Given the description of an element on the screen output the (x, y) to click on. 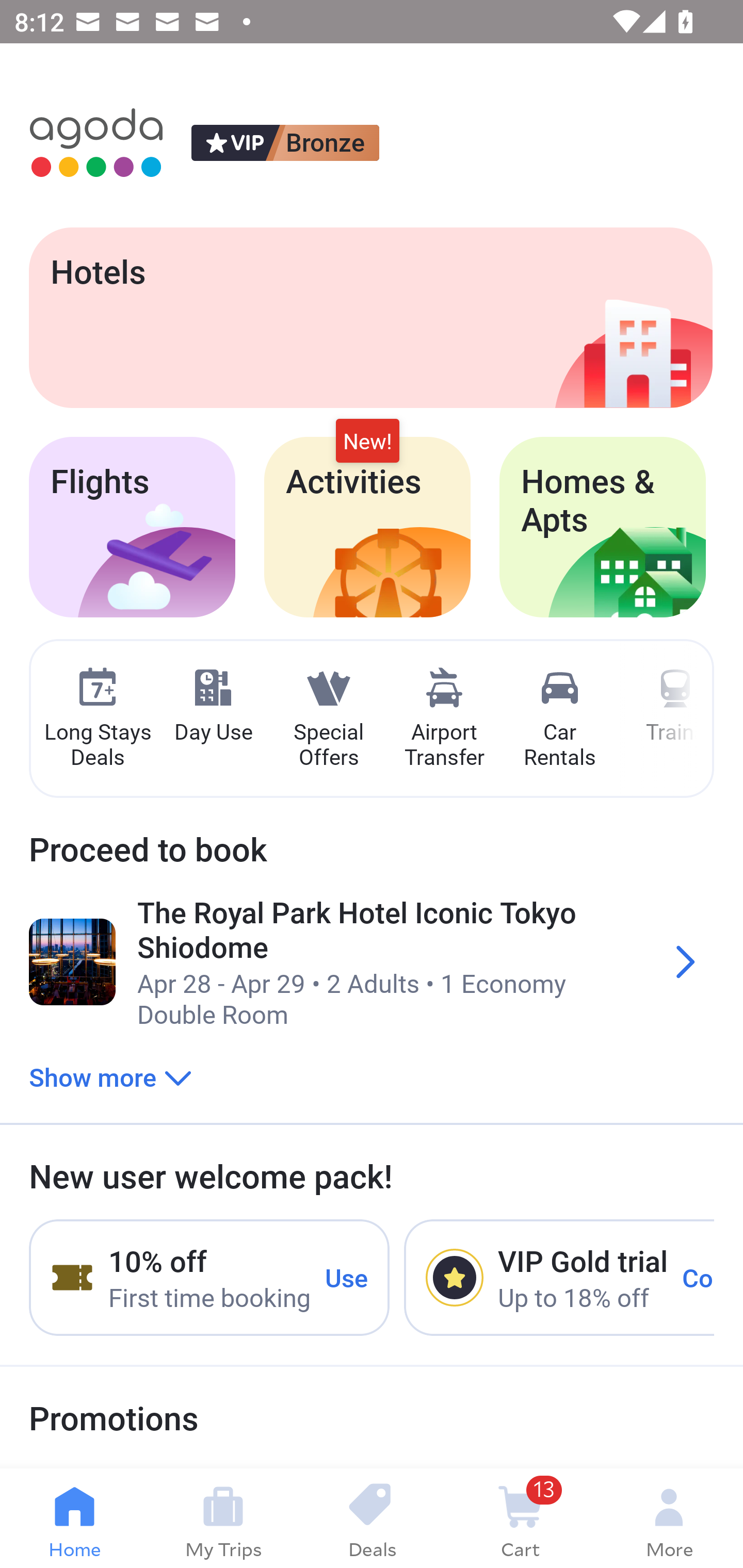
Hotels (370, 317)
New! (367, 441)
Flights (131, 527)
Activities (367, 527)
Homes & Apts (602, 527)
Day Use (213, 706)
Long Stays Deals (97, 718)
Special Offers (328, 718)
Airport Transfer (444, 718)
Car Rentals (559, 718)
Show more (110, 1076)
Use (346, 1277)
Home (74, 1518)
My Trips (222, 1518)
Deals (371, 1518)
13 Cart (519, 1518)
More (668, 1518)
